Given the description of an element on the screen output the (x, y) to click on. 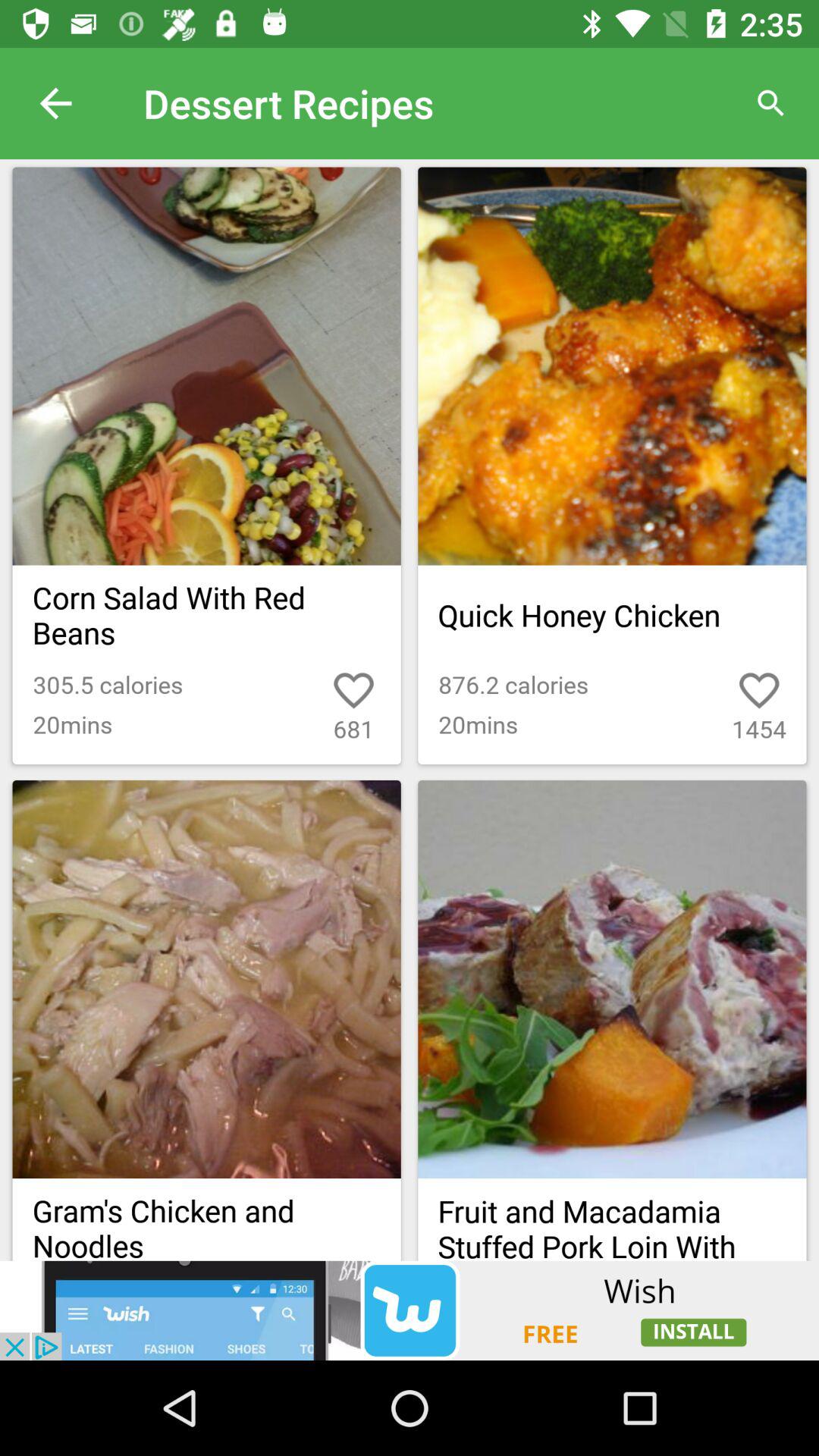
click on the text below the first image (206, 615)
click on quick honey chicken above 8762 calories (612, 615)
click on the second image in the second row (611, 978)
click on grams chicken noodles in the second row (206, 1218)
select the image below the search button on the web page (611, 366)
